Given the description of an element on the screen output the (x, y) to click on. 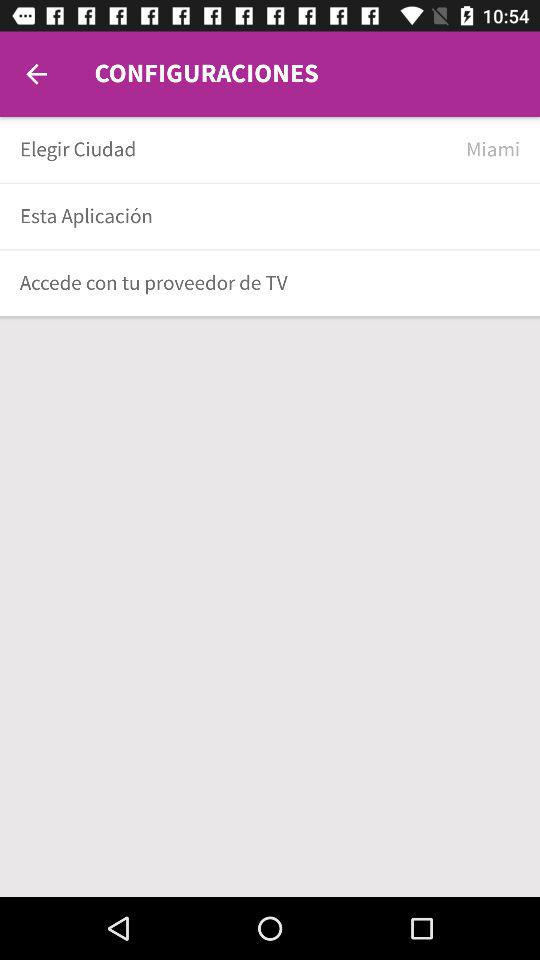
tap the icon to the left of the configuraciones (36, 74)
